Given the description of an element on the screen output the (x, y) to click on. 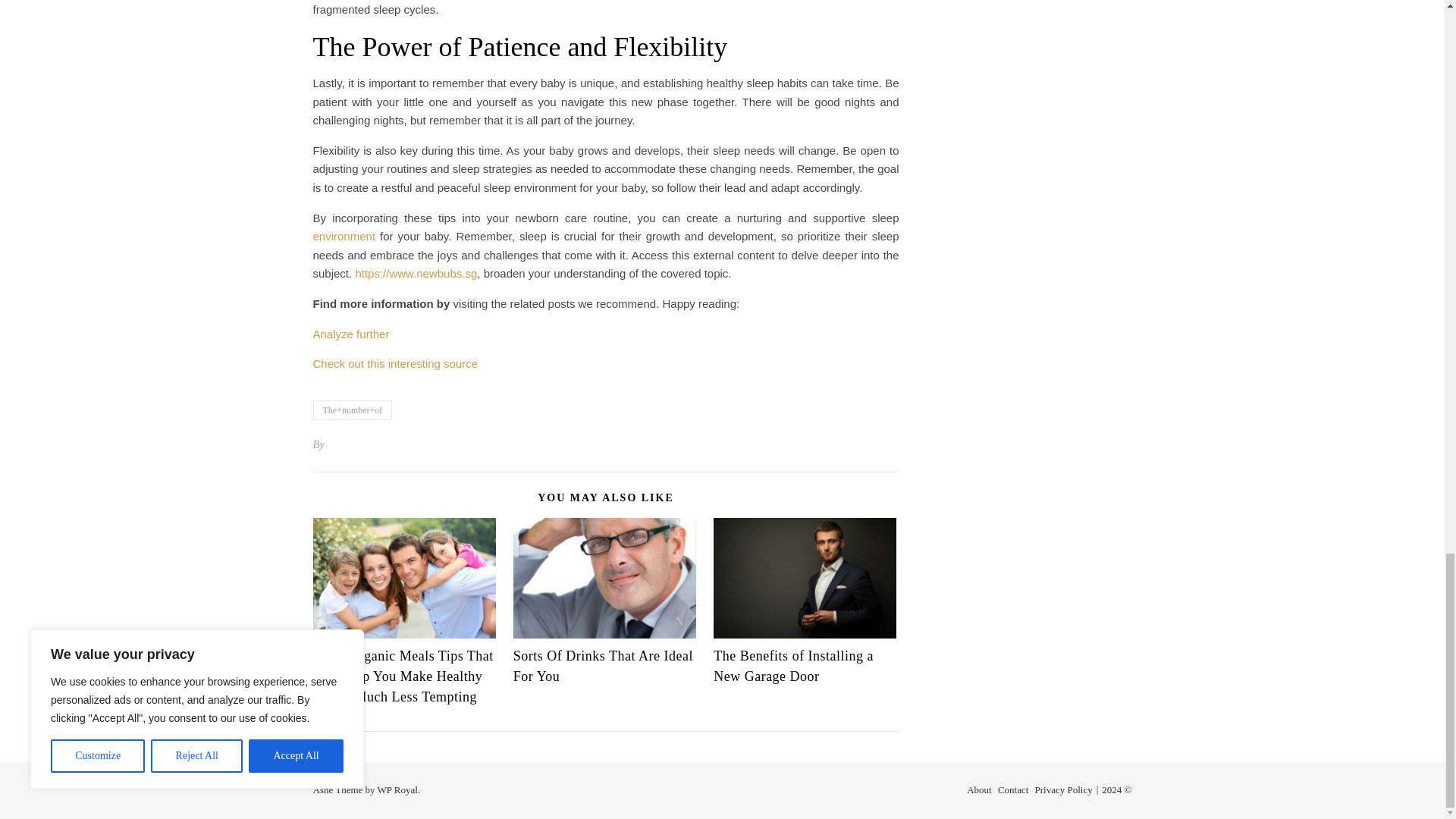
Sorts Of Drinks That Are Ideal For You (603, 665)
environment (344, 236)
Analyze further (350, 333)
Check out this interesting source (395, 363)
The Benefits of Installing a New Garage Door (793, 665)
